Given the description of an element on the screen output the (x, y) to click on. 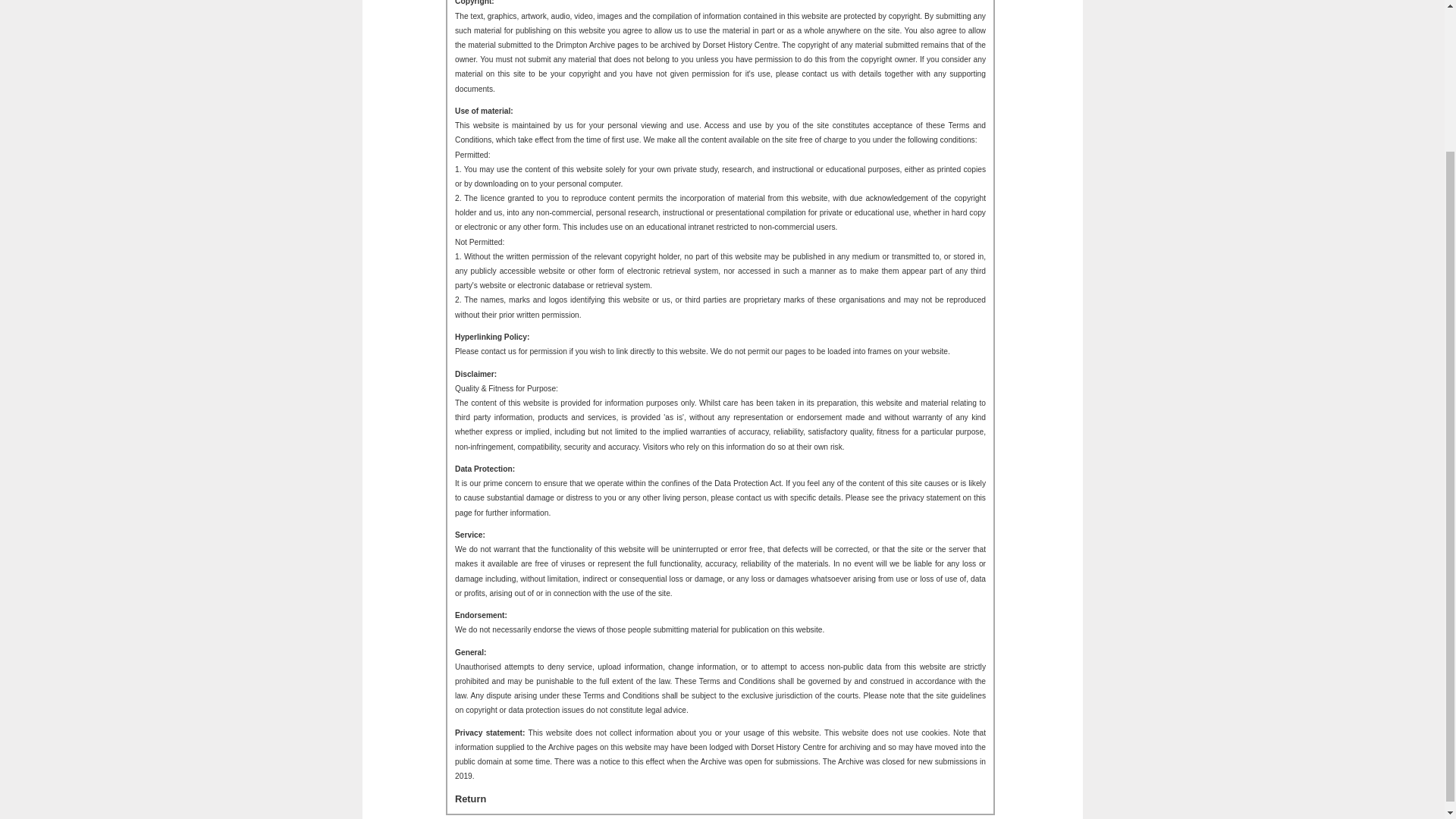
Return (470, 798)
